Given the description of an element on the screen output the (x, y) to click on. 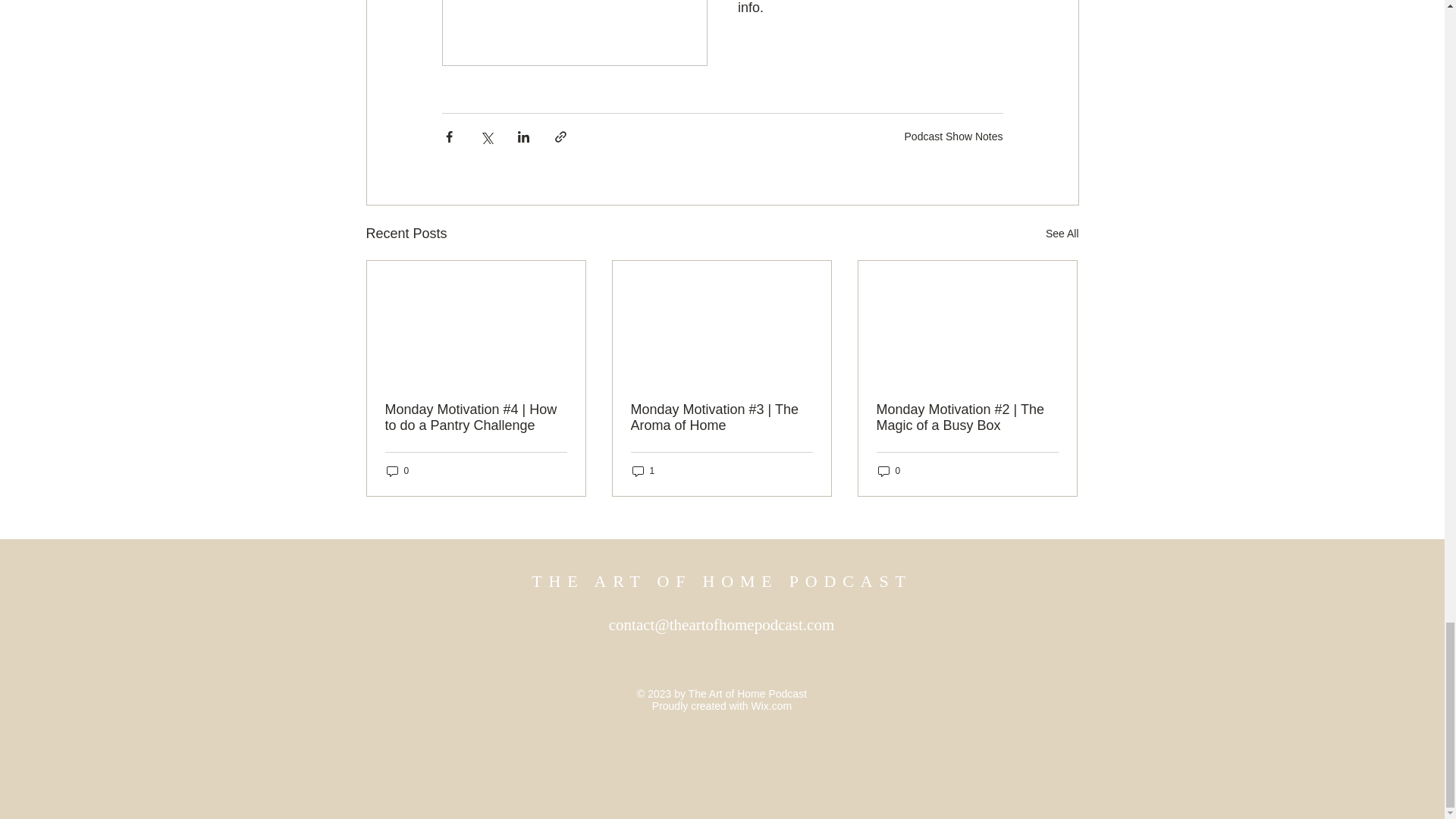
See All (1061, 233)
Podcast Show Notes (953, 136)
